Given the description of an element on the screen output the (x, y) to click on. 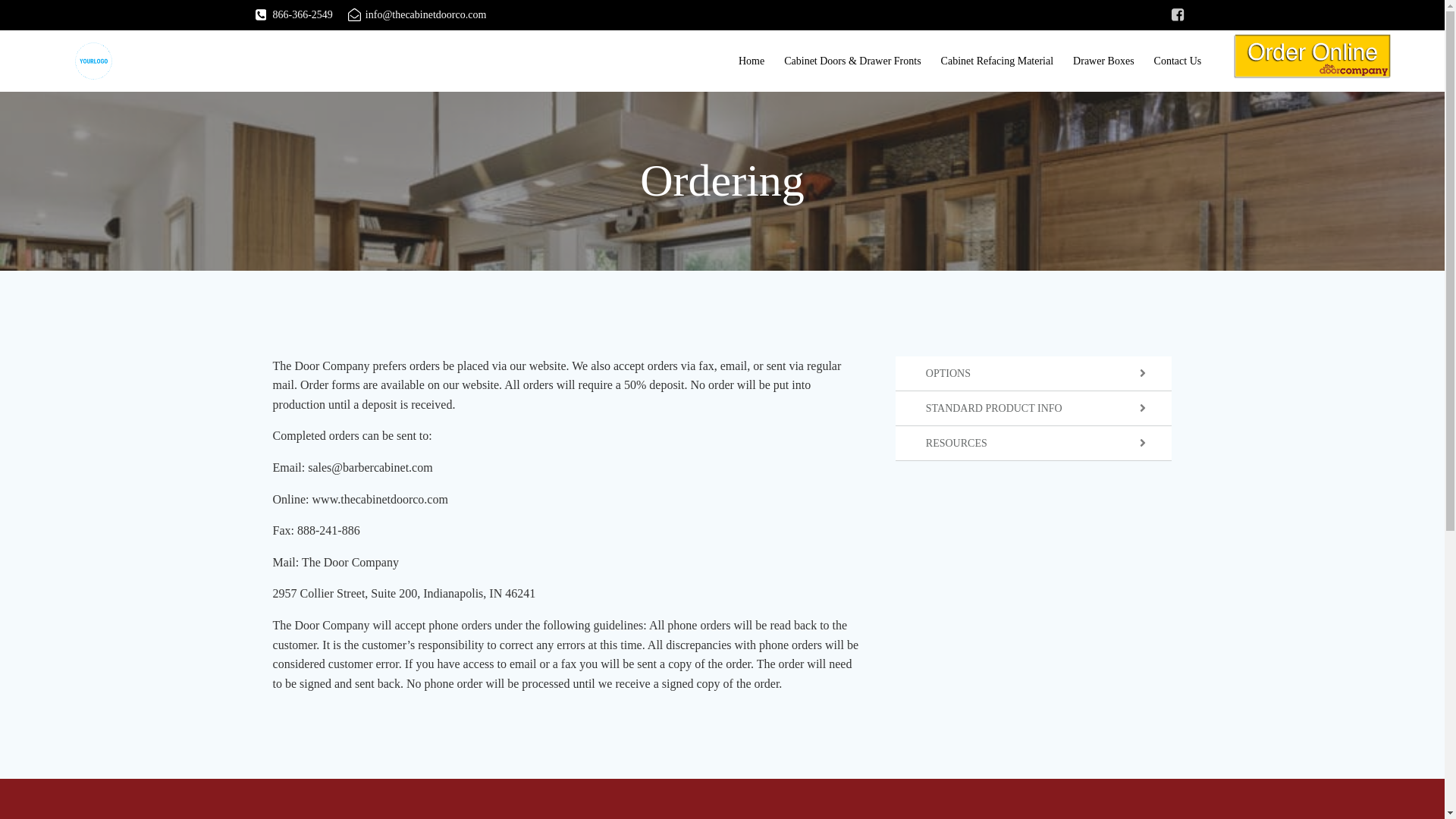
Contact Us (1178, 60)
866-366-2549 (292, 15)
RESOURCES (1033, 443)
Home (751, 60)
Drawer Boxes (1103, 60)
STANDARD PRODUCT INFO (1033, 408)
Cabinet Refacing Material (997, 60)
OPTIONS (1033, 373)
